Given the description of an element on the screen output the (x, y) to click on. 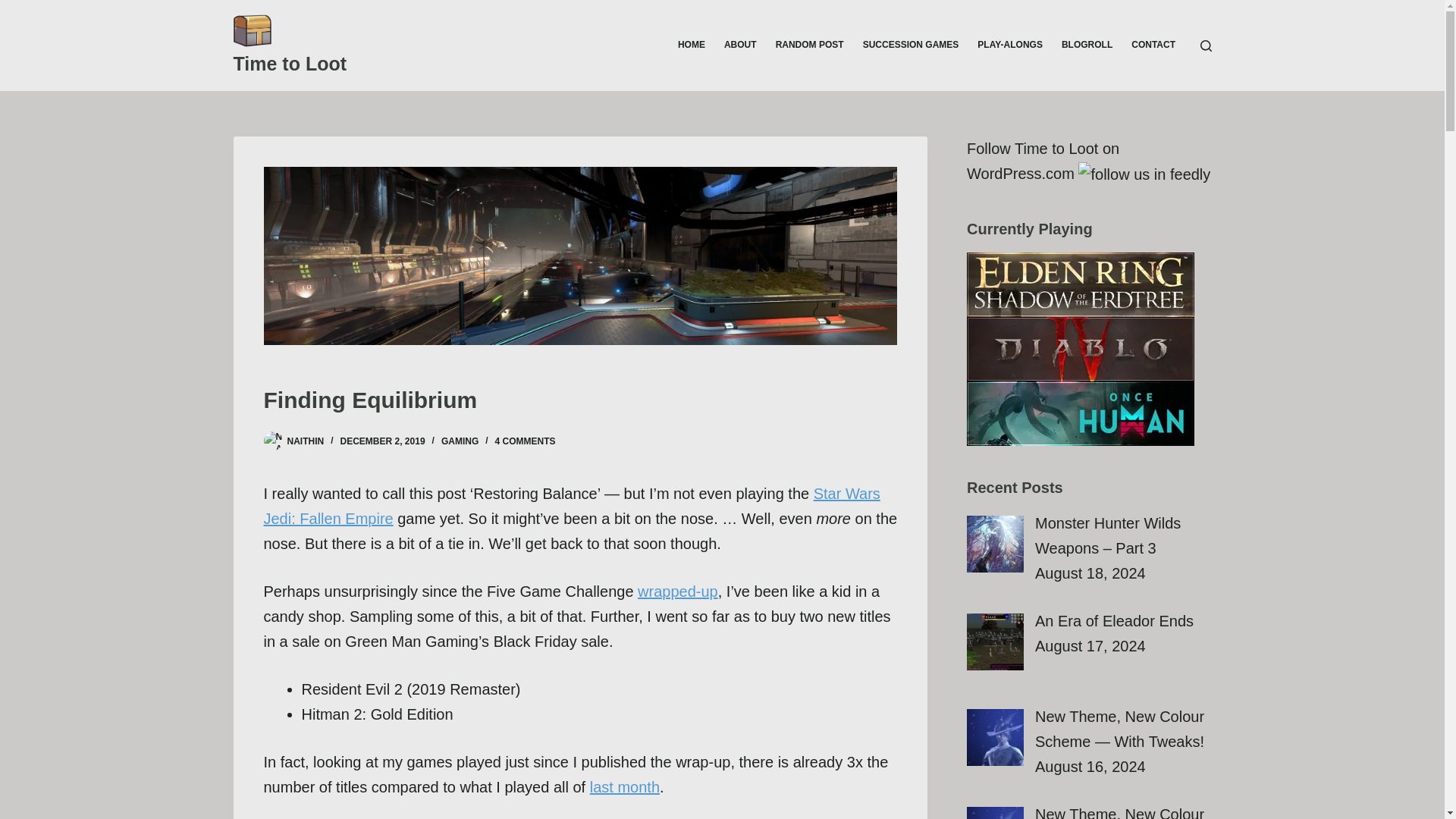
Time to Loot (289, 63)
Skip to content (15, 7)
Star Wars Jedi: Fallen Empire (571, 506)
RANDOM POST (809, 45)
PLAY-ALONGS (1010, 45)
GAMING (460, 440)
wrapped-up (677, 591)
Posts by Naithin (304, 440)
4 COMMENTS (525, 440)
last month (624, 786)
